Given the description of an element on the screen output the (x, y) to click on. 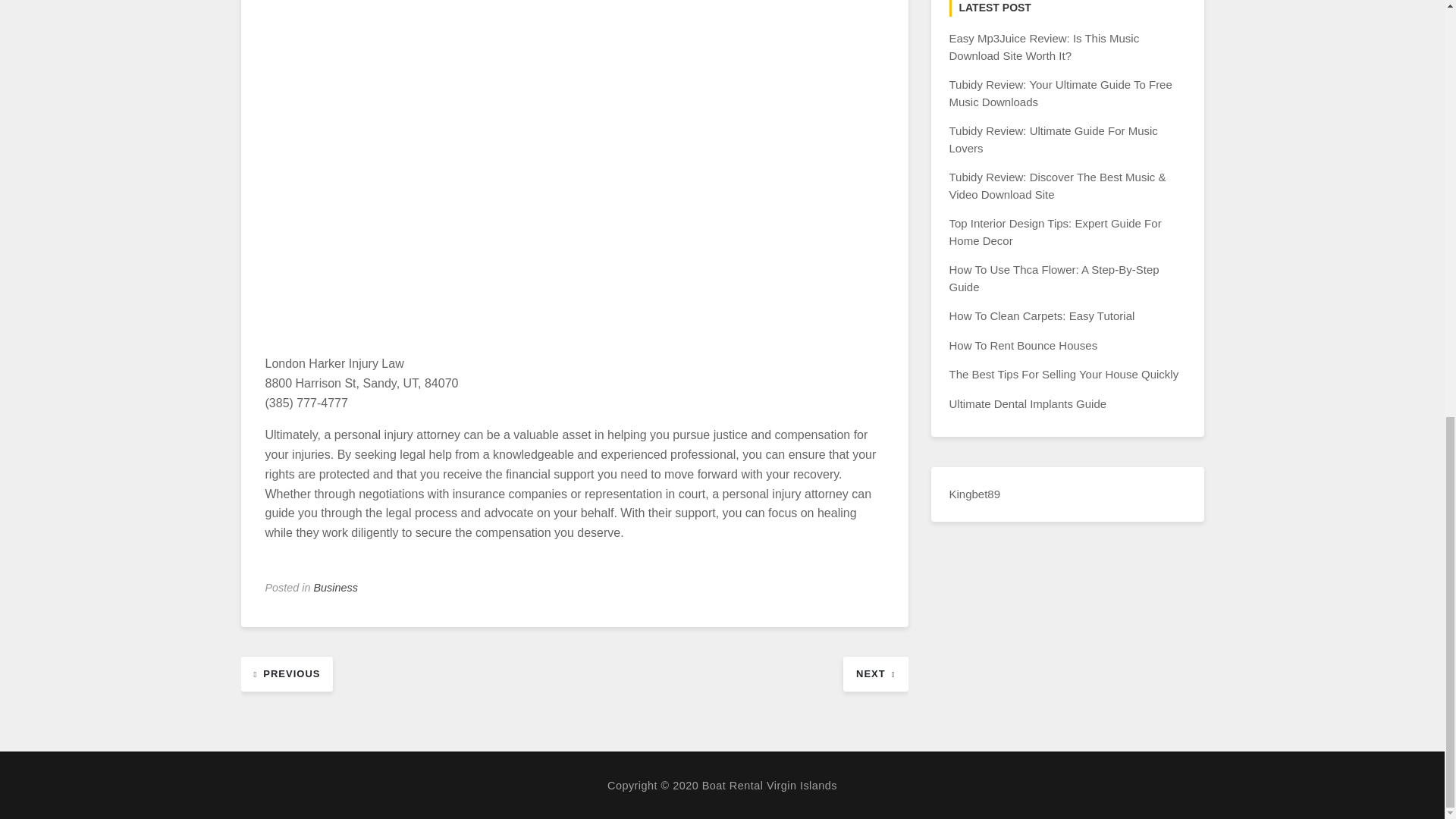
Easy Mp3Juice Review: Is This Music Download Site Worth It? (1044, 46)
Business (336, 587)
PREVIOUS (287, 672)
The Best Tips For Selling Your House Quickly (1064, 373)
How To Rent Bounce Houses (1023, 345)
Ultimate Dental Implants Guide (1027, 403)
Top Interior Design Tips: Expert Guide For Home Decor (1055, 232)
Tubidy Review: Your Ultimate Guide To Free Music Downloads (1060, 92)
Kingbet89 (975, 493)
NEXT (875, 672)
